Given the description of an element on the screen output the (x, y) to click on. 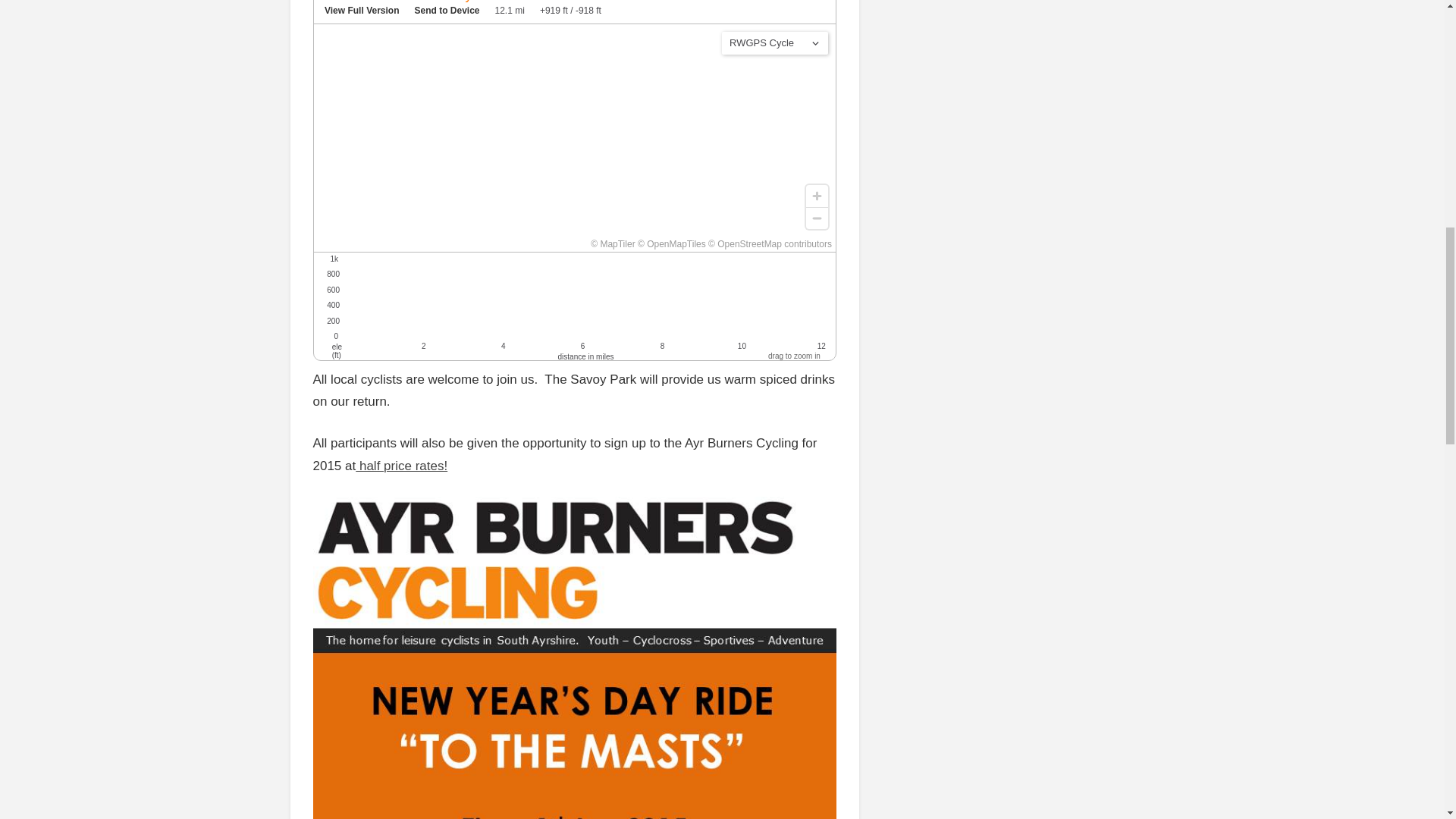
half price rates! (400, 465)
Subscripitions (400, 465)
